Given the description of an element on the screen output the (x, y) to click on. 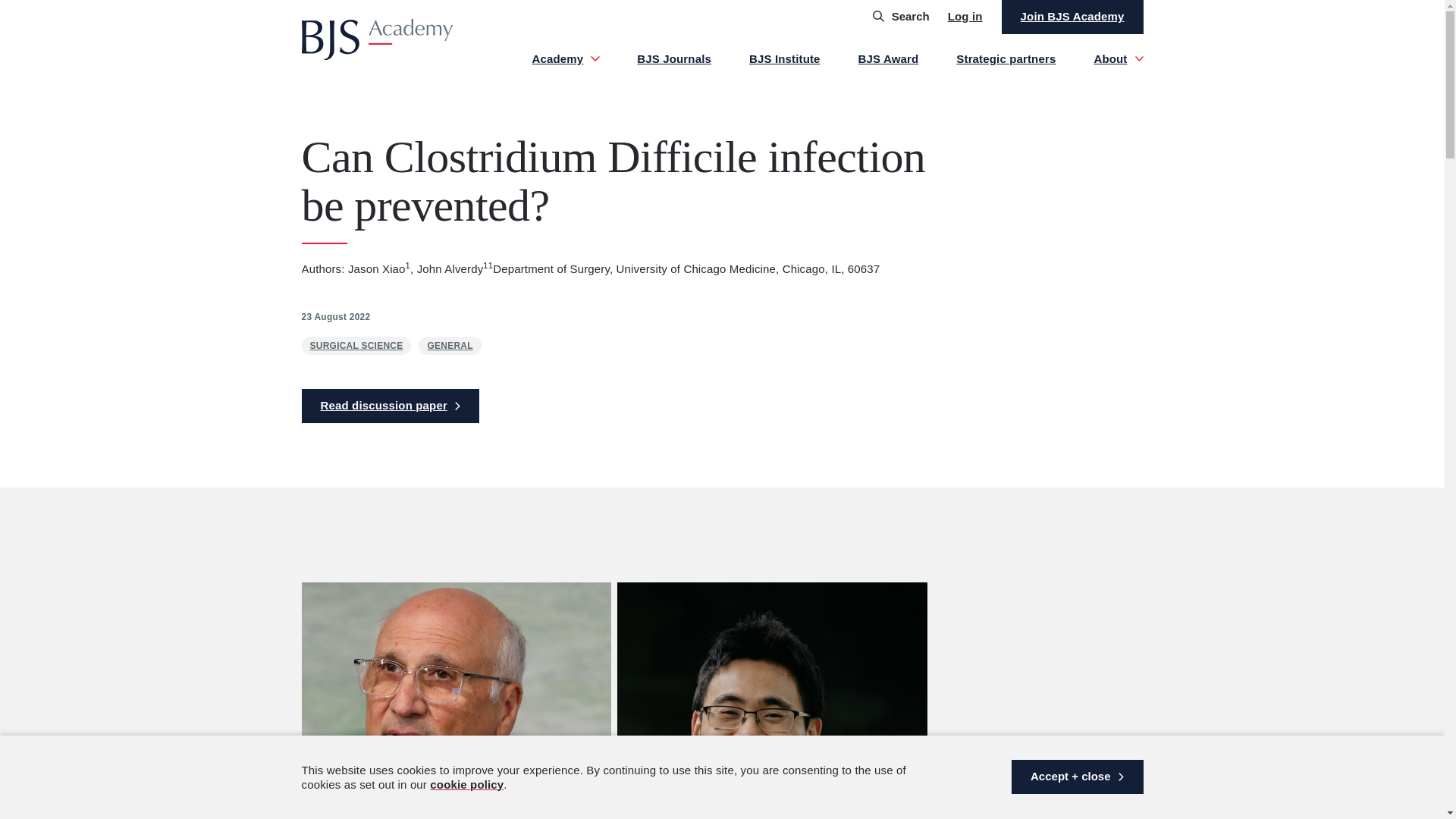
Log in (965, 17)
Search (901, 17)
Academy (565, 58)
BJS Award (888, 58)
BJS Journals (674, 58)
BJS Institute (785, 58)
Strategic partners (1005, 58)
BJS Academy (376, 38)
Join BJS Academy (1071, 17)
About (1117, 58)
cookie policy (466, 784)
